Given the description of an element on the screen output the (x, y) to click on. 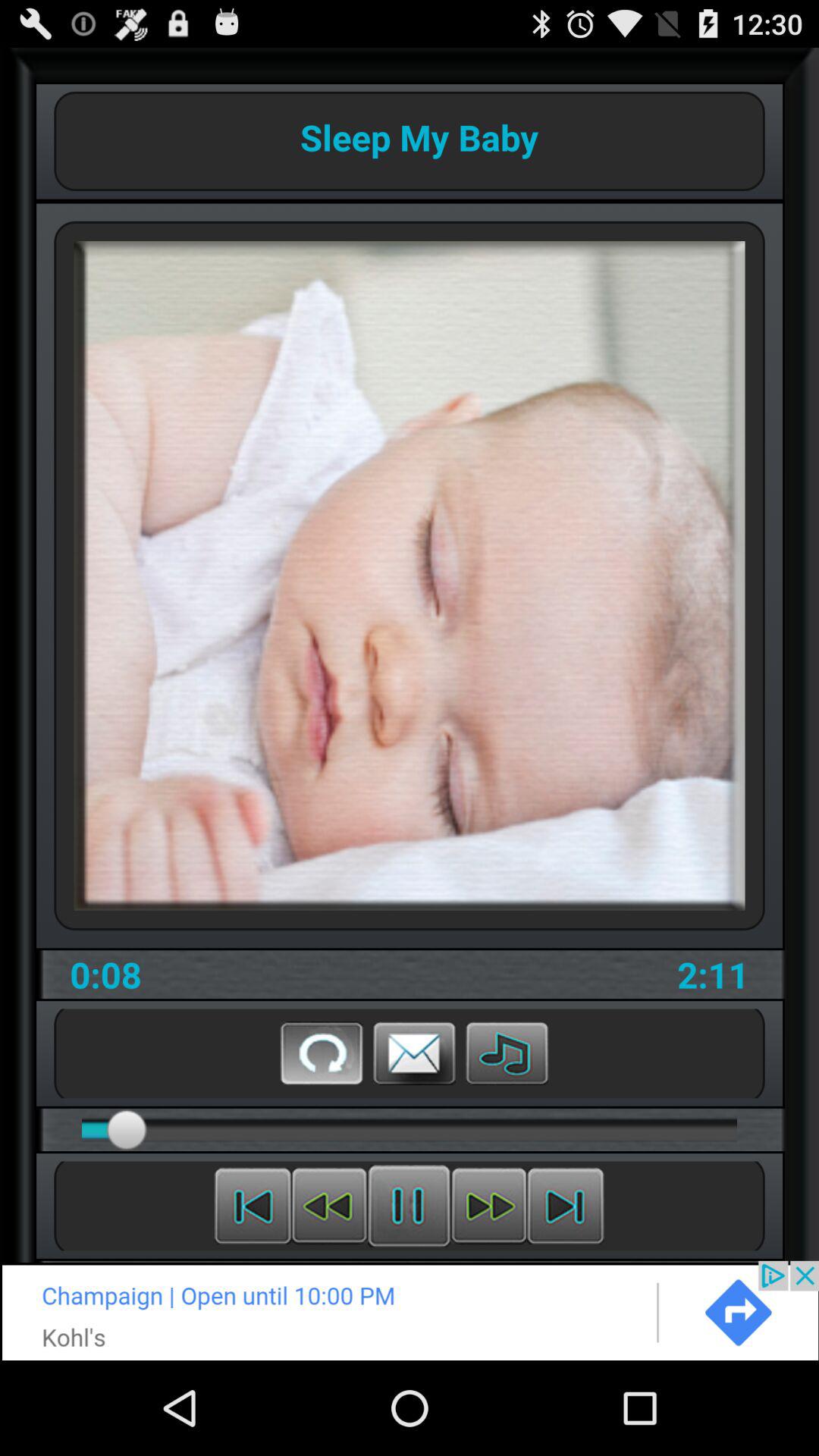
stoping the option (408, 1205)
